Given the description of an element on the screen output the (x, y) to click on. 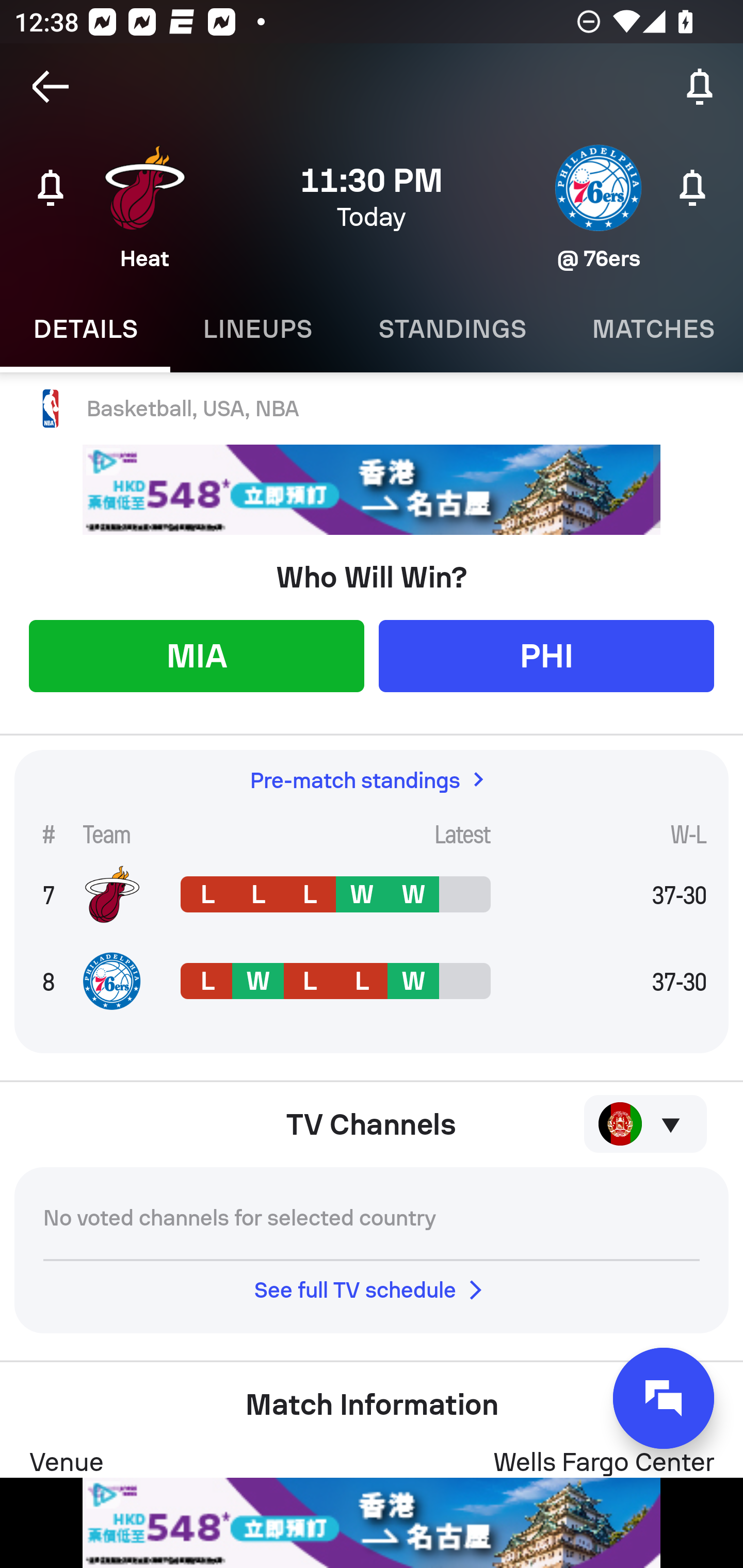
Navigate up (50, 86)
Lineups LINEUPS (257, 329)
Standings STANDINGS (451, 329)
Matches MATCHES (650, 329)
Basketball, USA, NBA (371, 409)
ysfecx5i_320x50 (371, 489)
MIA (196, 655)
PHI (546, 655)
See full TV schedule (371, 1289)
CHAT (663, 1398)
ysfecx5i_320x50 (371, 1522)
